Given the description of an element on the screen output the (x, y) to click on. 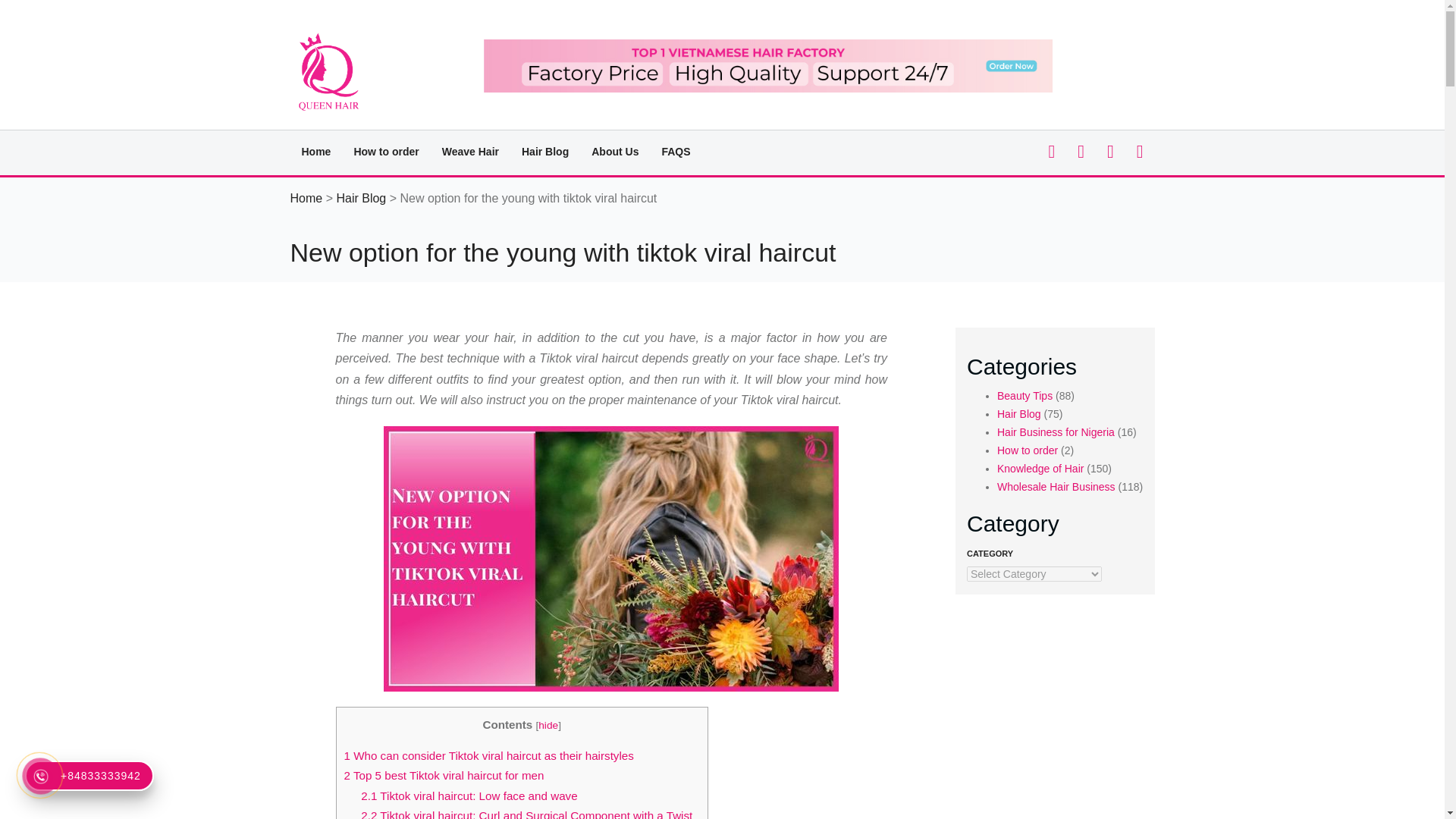
hide (547, 725)
Home (315, 151)
Hair Blog (545, 151)
2 Top 5 best Tiktok viral haircut for men (443, 775)
How to order (385, 151)
Go to the Hair Blog category archives. (360, 197)
Home (305, 197)
Weave Hair (470, 151)
FAQS (675, 151)
Hair Blog (360, 197)
2.1 Tiktok viral haircut: Low face and wave (468, 795)
1 Who can consider Tiktok viral haircut as their hairstyles (488, 755)
About Us (614, 151)
